Given the description of an element on the screen output the (x, y) to click on. 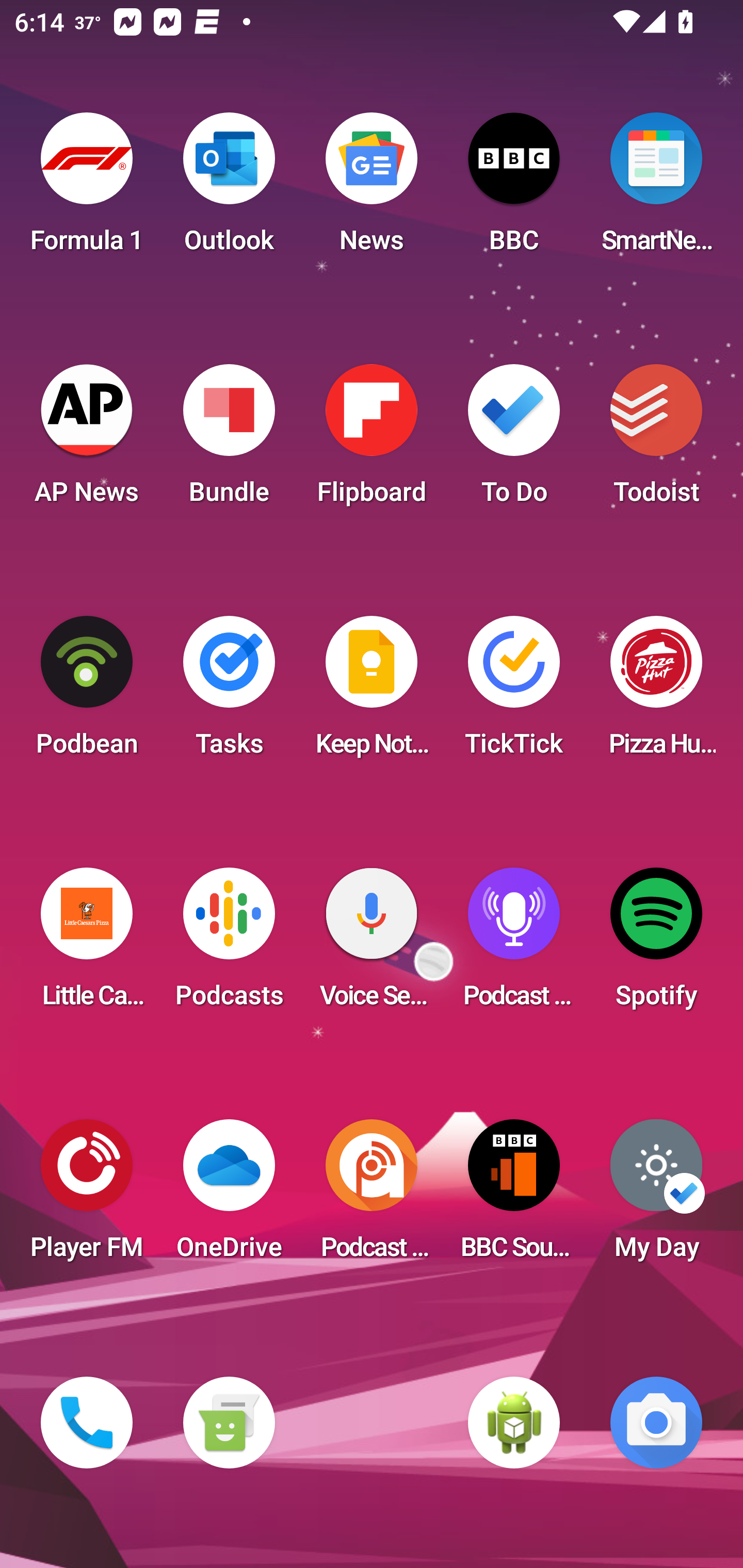
Formula 1 (86, 188)
Outlook (228, 188)
News (371, 188)
BBC (513, 188)
SmartNews (656, 188)
AP News (86, 440)
Bundle (228, 440)
Flipboard (371, 440)
To Do (513, 440)
Todoist (656, 440)
Podbean (86, 692)
Tasks (228, 692)
Keep Notes (371, 692)
TickTick (513, 692)
Pizza Hut HK & Macau (656, 692)
Little Caesars Pizza (86, 943)
Podcasts (228, 943)
Voice Search (371, 943)
Podcast Player (513, 943)
Spotify (656, 943)
Player FM (86, 1195)
OneDrive (228, 1195)
Podcast Addict (371, 1195)
BBC Sounds (513, 1195)
My Day (656, 1195)
Phone (86, 1422)
Messaging (228, 1422)
WebView Browser Tester (513, 1422)
Camera (656, 1422)
